Given the description of an element on the screen output the (x, y) to click on. 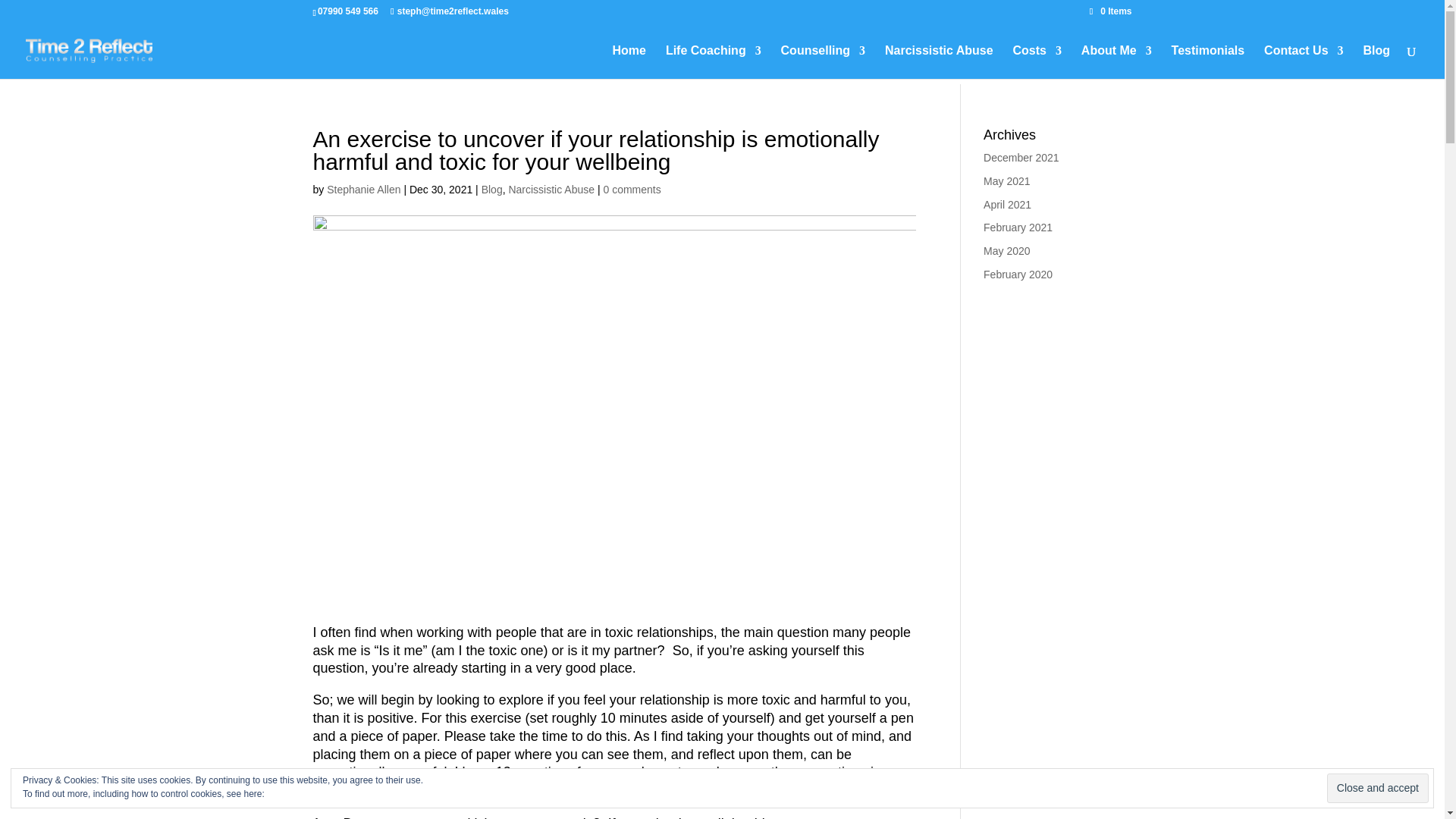
0 comments (631, 189)
February 2021 (1018, 227)
0 Items (1110, 10)
Narcissistic Abuse (551, 189)
February 2020 (1018, 274)
December 2021 (1021, 157)
Blog (491, 189)
Close and accept (1377, 788)
Cookie Policy (293, 793)
May 2020 (1006, 250)
